Given the description of an element on the screen output the (x, y) to click on. 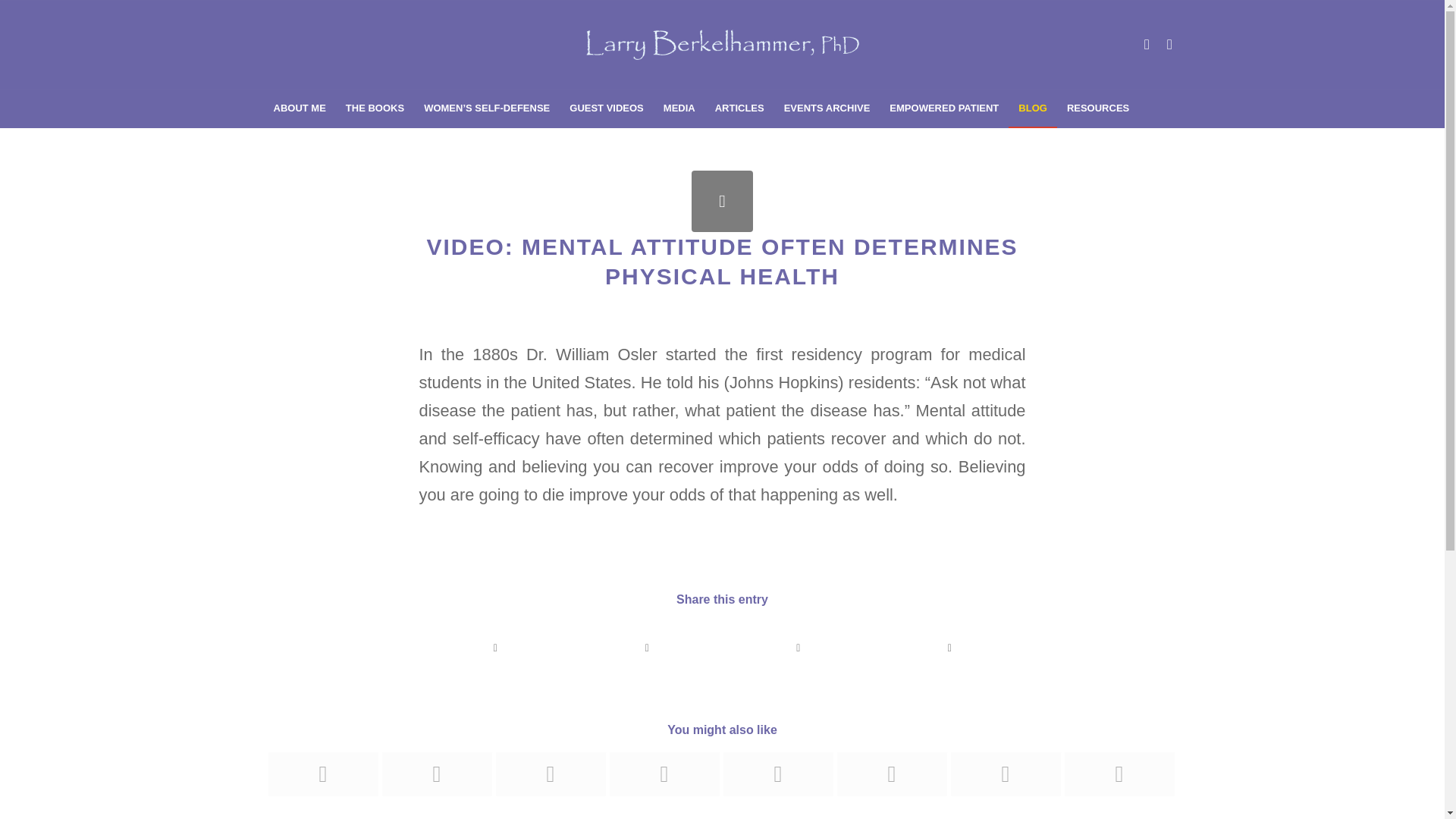
RESOURCES (1097, 108)
Video: Three Questions To Ask Your Doctor (322, 773)
Youtube (1146, 44)
EMPOWERED PATIENT (944, 108)
CONTACT (297, 146)
GUEST VIDEOS (606, 108)
MEDIA (678, 108)
BLOG (1033, 108)
EVENTS ARCHIVE (827, 108)
THE BOOKS (374, 108)
